Given the description of an element on the screen output the (x, y) to click on. 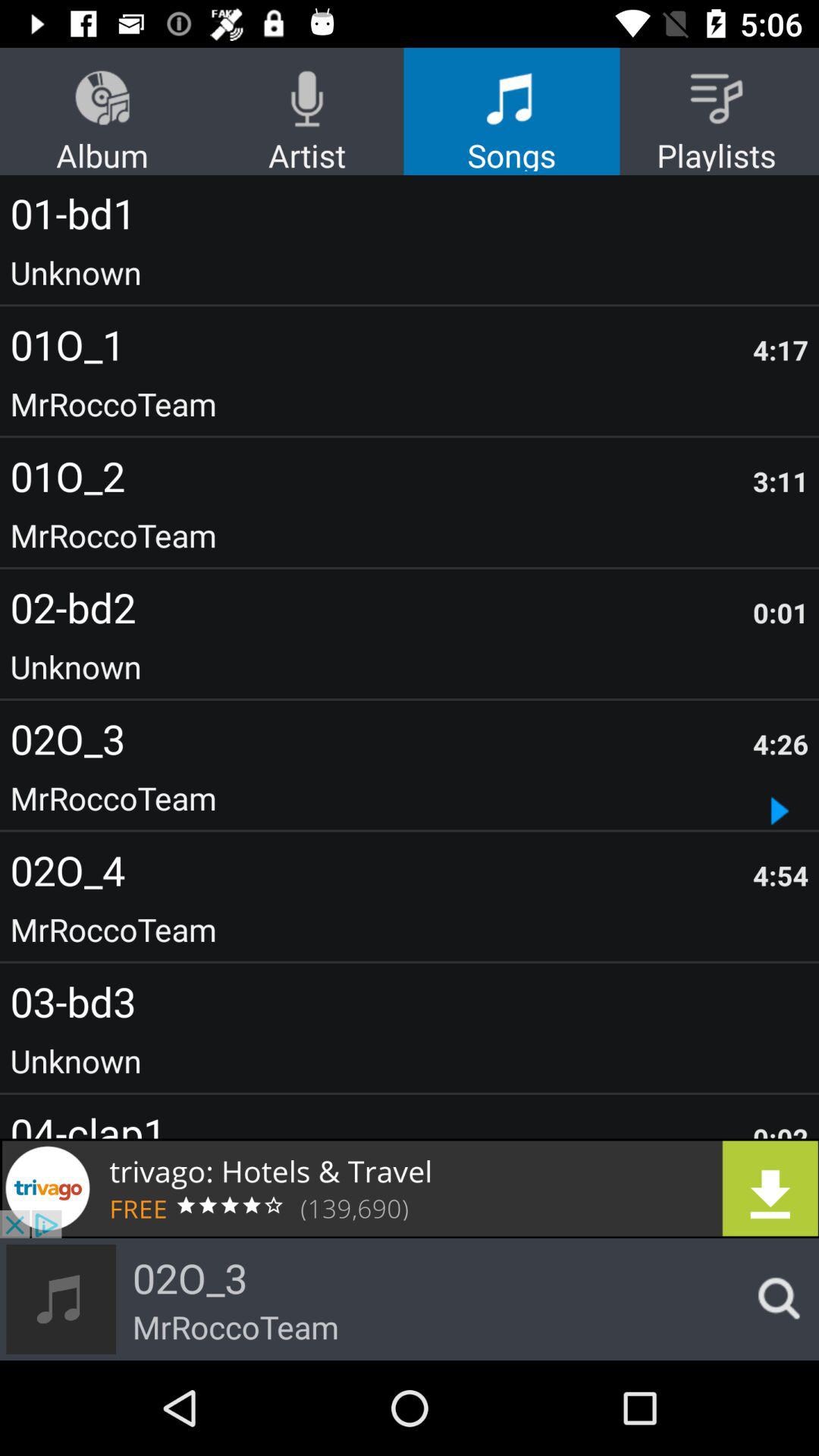
search (773, 1298)
